Given the description of an element on the screen output the (x, y) to click on. 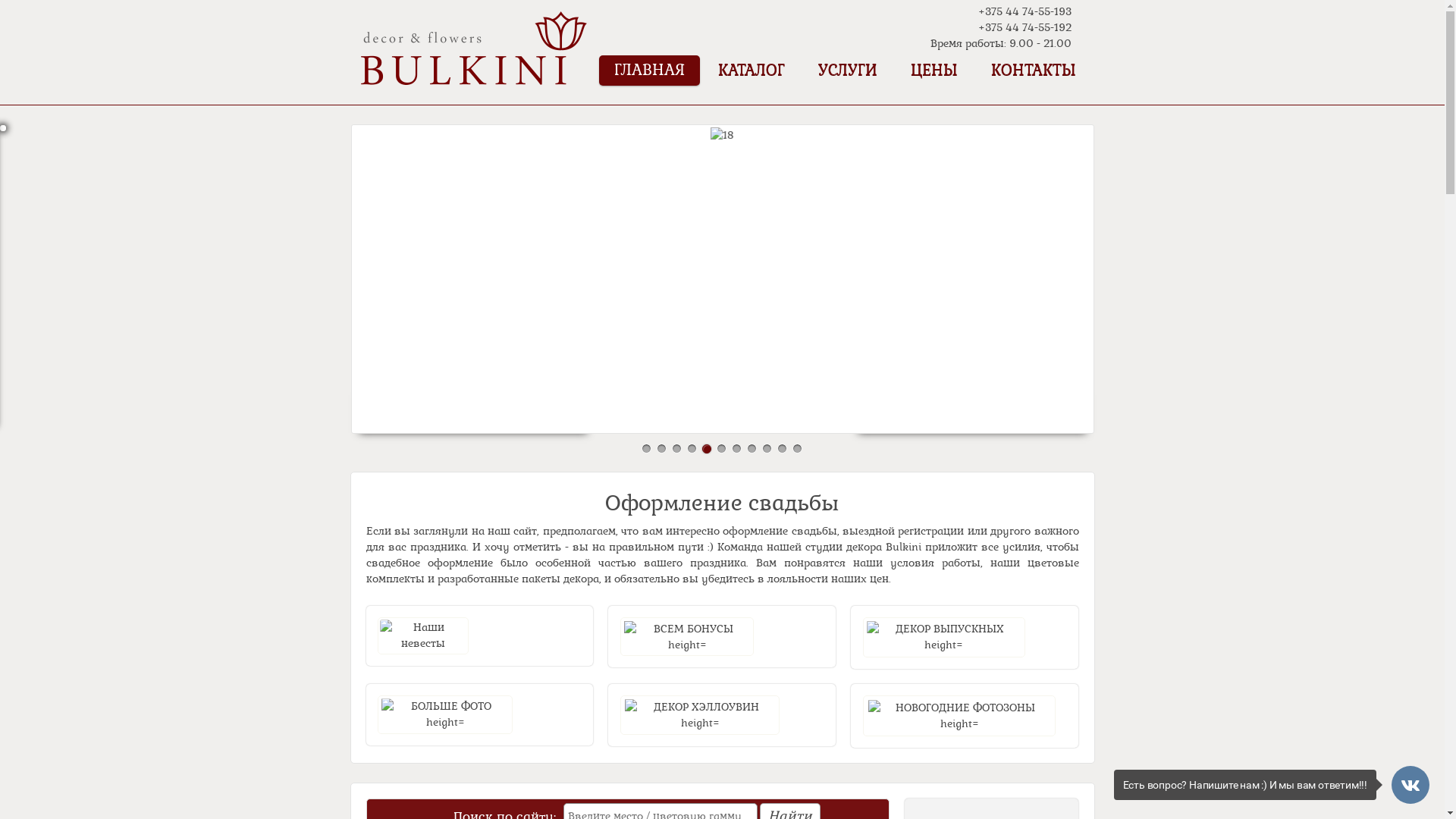
+375 44 74-55-192 Element type: text (1024, 27)
+375 44 74-55-193 Element type: text (1024, 11)
